Given the description of an element on the screen output the (x, y) to click on. 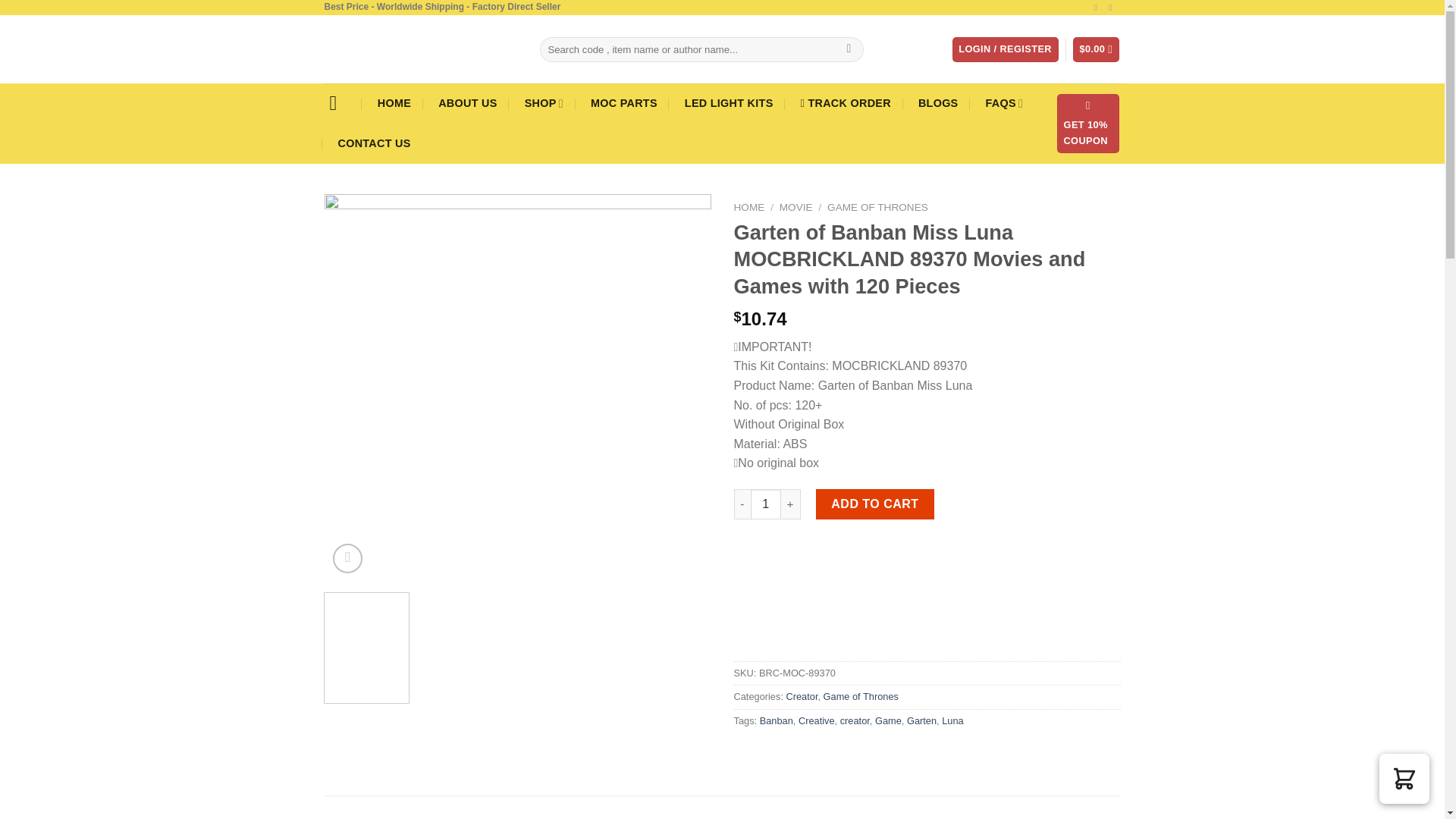
Search (848, 49)
HOME (394, 103)
Sign up for Newsletter (1088, 123)
1 (765, 503)
Cart (1096, 49)
FAQS (1003, 103)
SHOP (544, 103)
LED LIGHT KITS (728, 103)
